Given the description of an element on the screen output the (x, y) to click on. 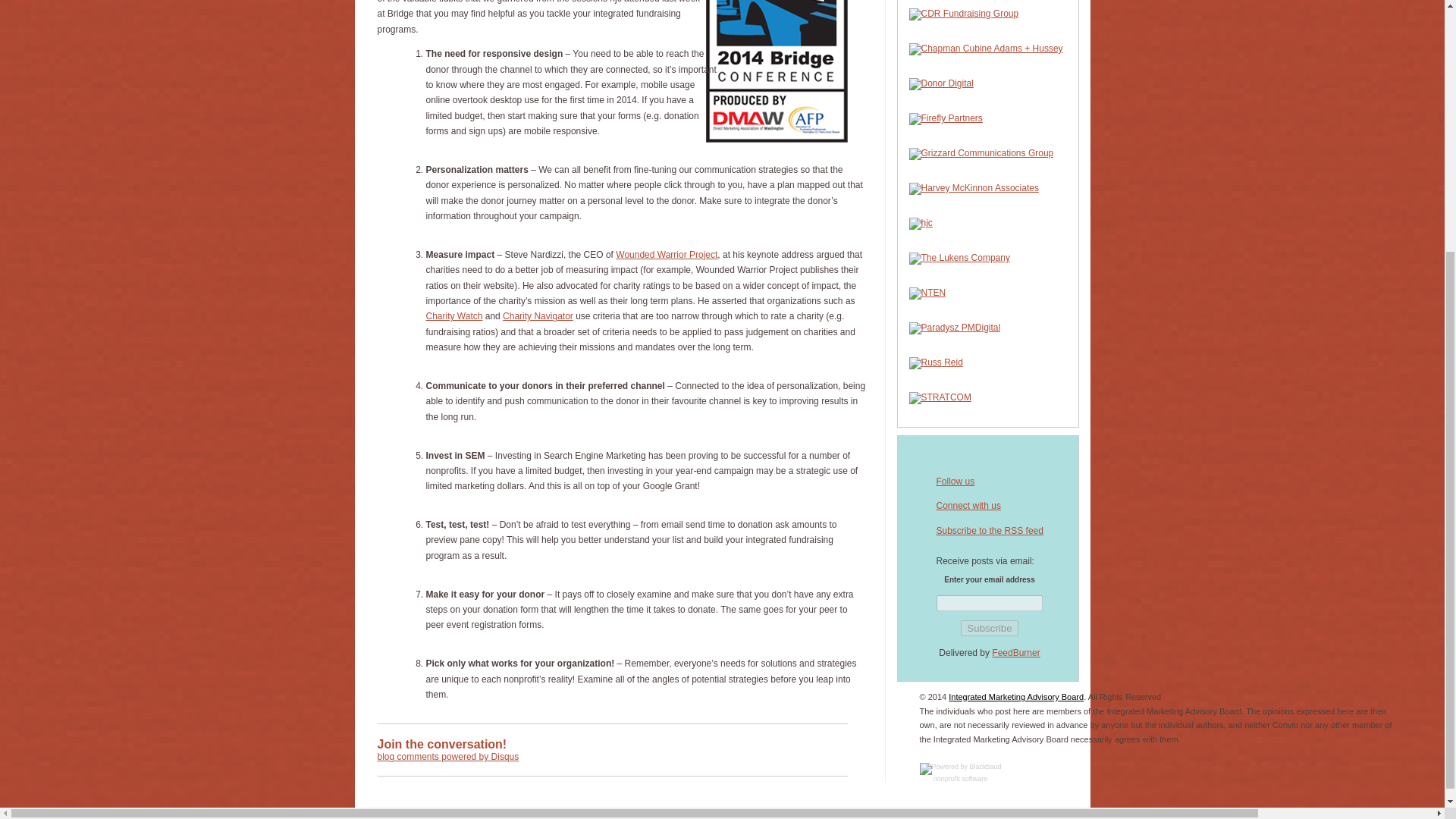
Charity Navigator (537, 316)
Subscribe to the RSS feed (989, 530)
Connect with us (968, 505)
Integrated Marketing Advisory Board (1016, 696)
Follow us (955, 480)
Subscribe (988, 627)
nonprofit software (959, 772)
FeedBurner (1015, 652)
blog comments powered by Disqus (448, 756)
Subscribe (988, 627)
Charity Watch (454, 316)
Wounded Warrior Project (666, 254)
